Given the description of an element on the screen output the (x, y) to click on. 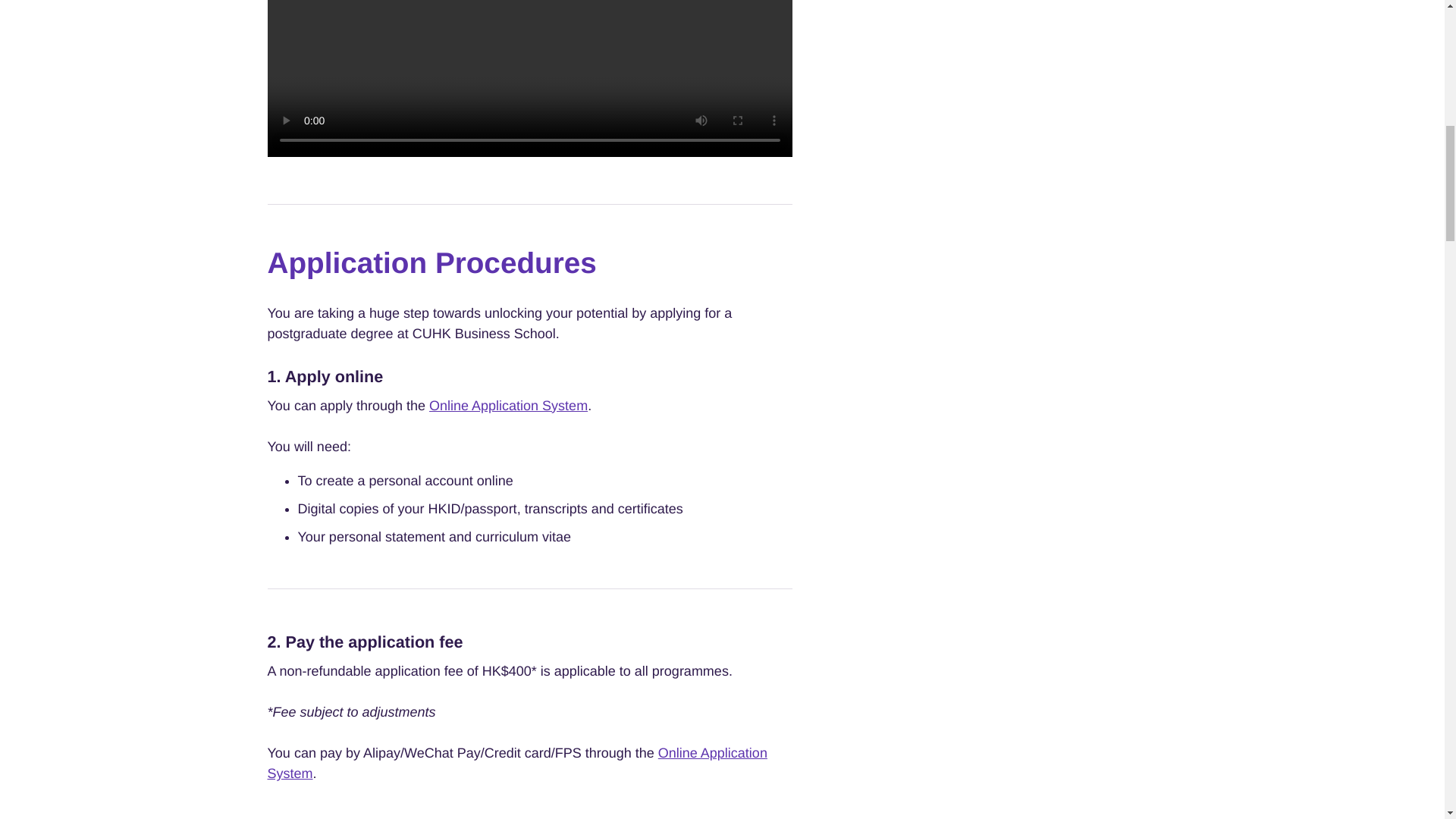
Online Application System (508, 405)
Online Application System (516, 763)
